Given the description of an element on the screen output the (x, y) to click on. 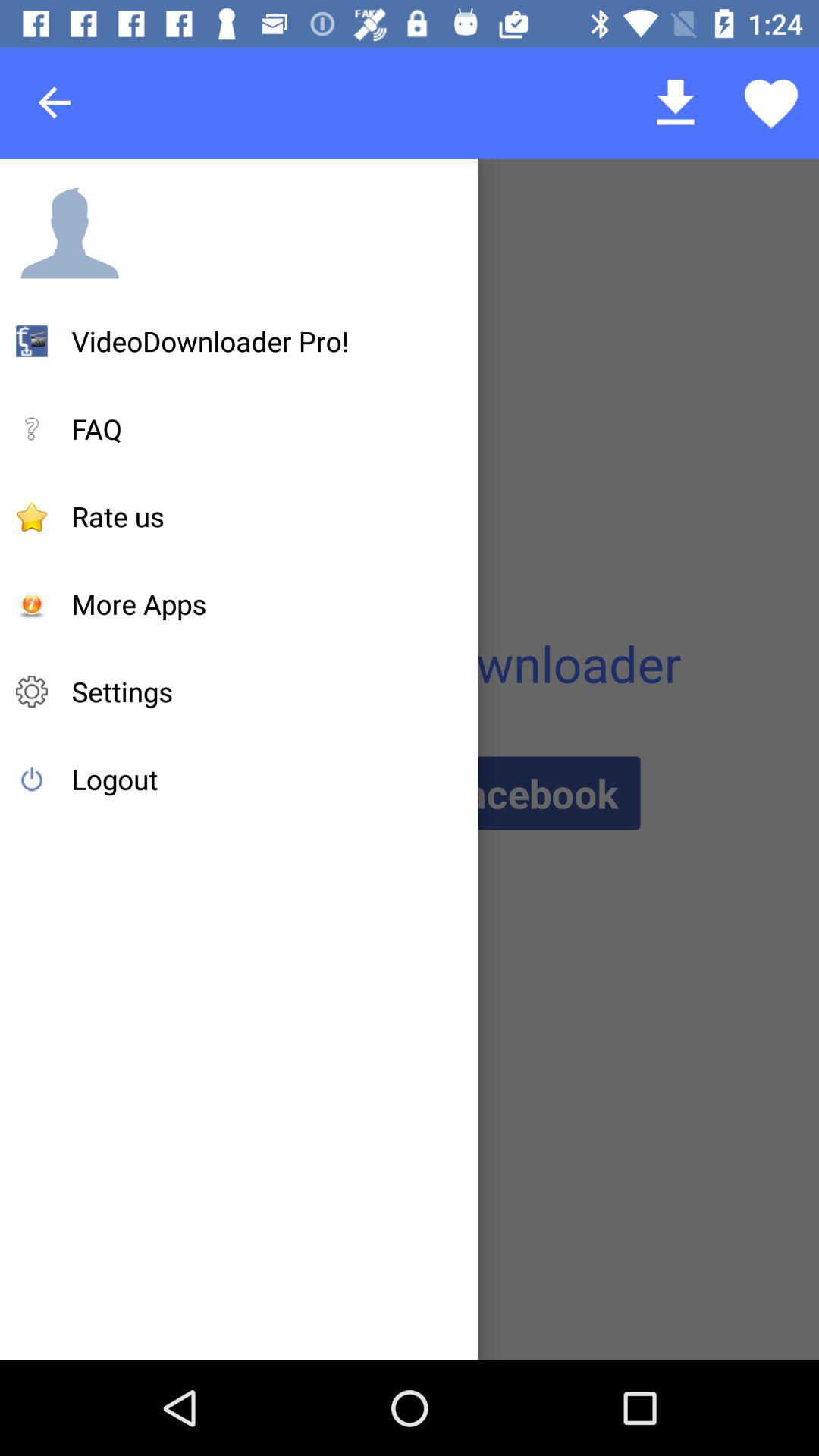
choose the icon to the left of the log in with (114, 778)
